Given the description of an element on the screen output the (x, y) to click on. 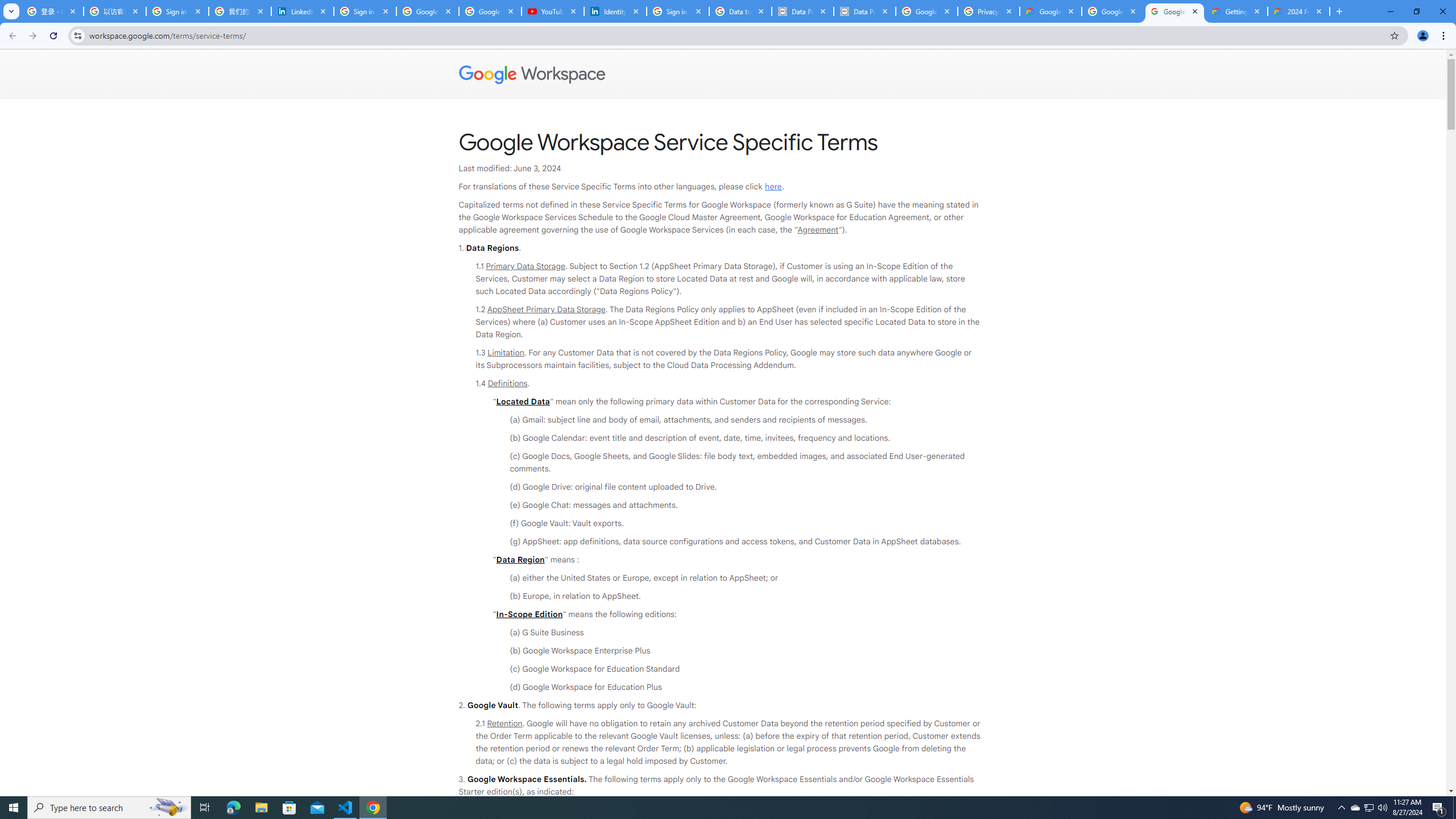
Data Privacy Framework (864, 11)
Google Cloud Terms Directory | Google Cloud (1050, 11)
Sign in - Google Accounts (177, 11)
here (772, 186)
